Given the description of an element on the screen output the (x, y) to click on. 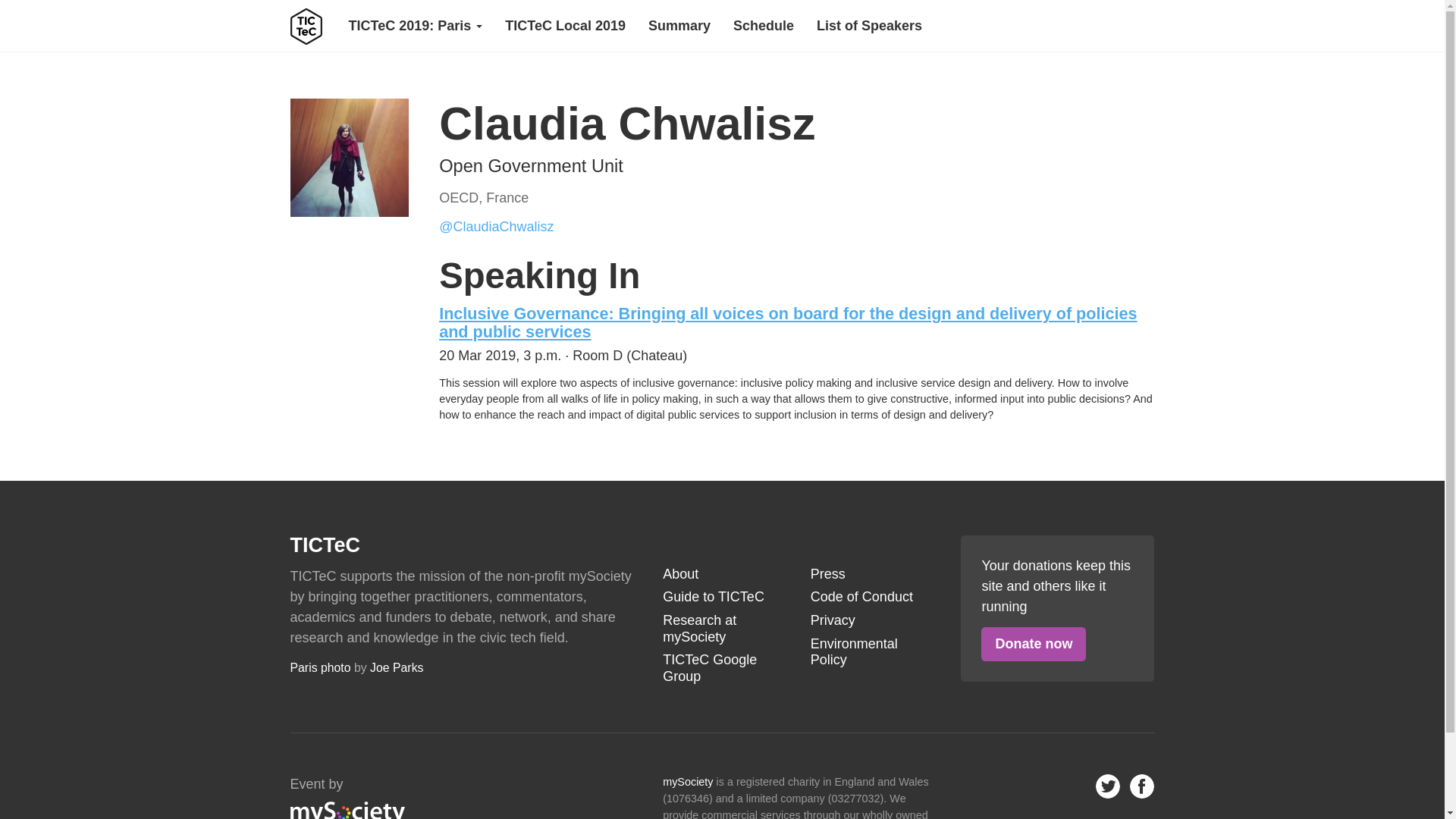
mySociety (687, 781)
Privacy (870, 620)
TICTeC Local 2019 (565, 25)
About (722, 574)
Schedule (763, 25)
List of Speakers (869, 25)
Twitter (1107, 785)
Summary (679, 25)
Environmental Policy (870, 652)
Research at mySociety (722, 628)
mySociety (346, 810)
Guide to TICTeC (722, 597)
Facebook (1141, 785)
Donate now (1033, 643)
Paris photo (319, 667)
